Given the description of an element on the screen output the (x, y) to click on. 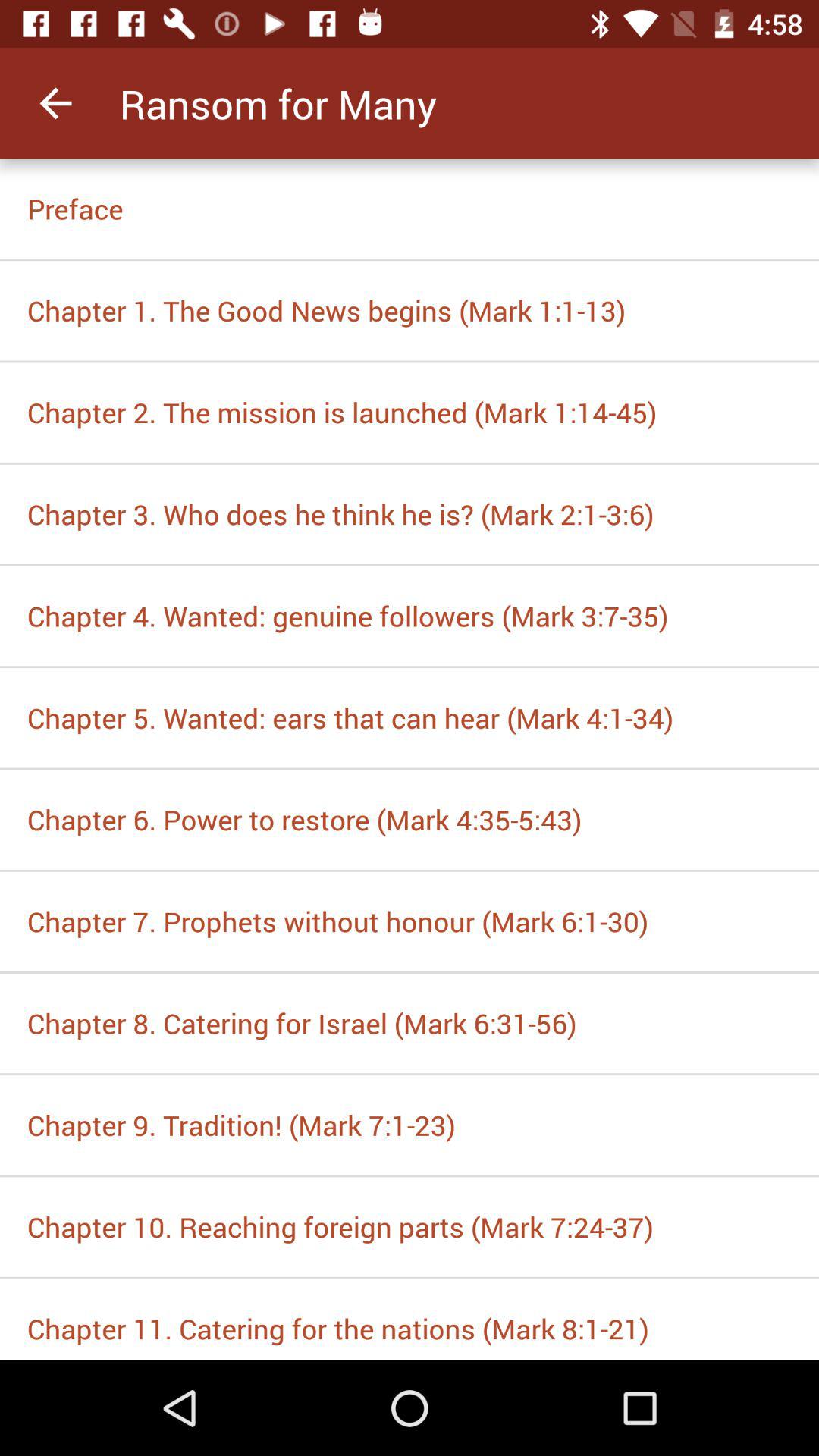
flip until preface icon (409, 208)
